Given the description of an element on the screen output the (x, y) to click on. 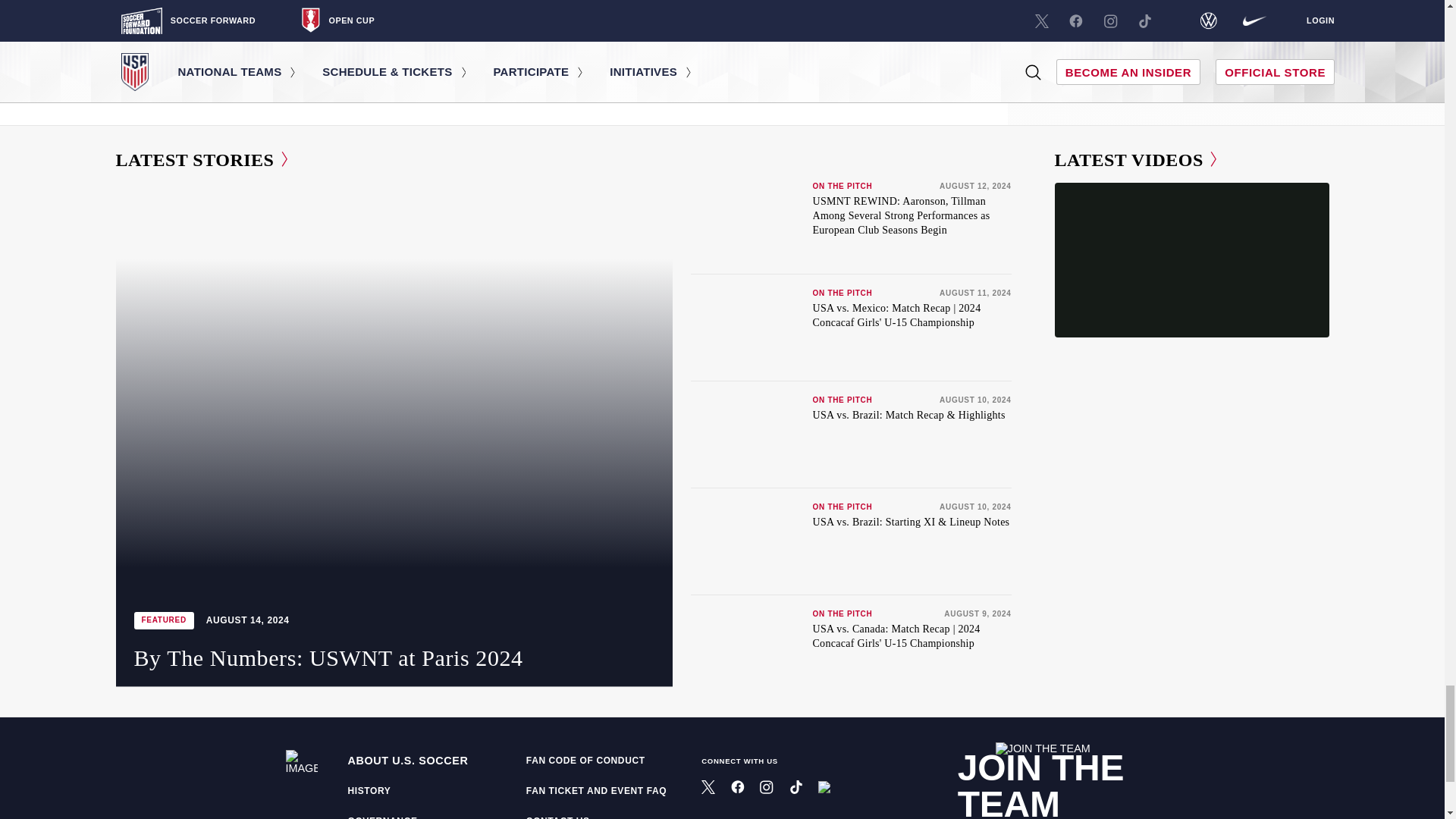
player- 6359646231112 (1190, 434)
player- 6360213478112 (1190, 259)
player- 6357210529112 (1190, 608)
